Given the description of an element on the screen output the (x, y) to click on. 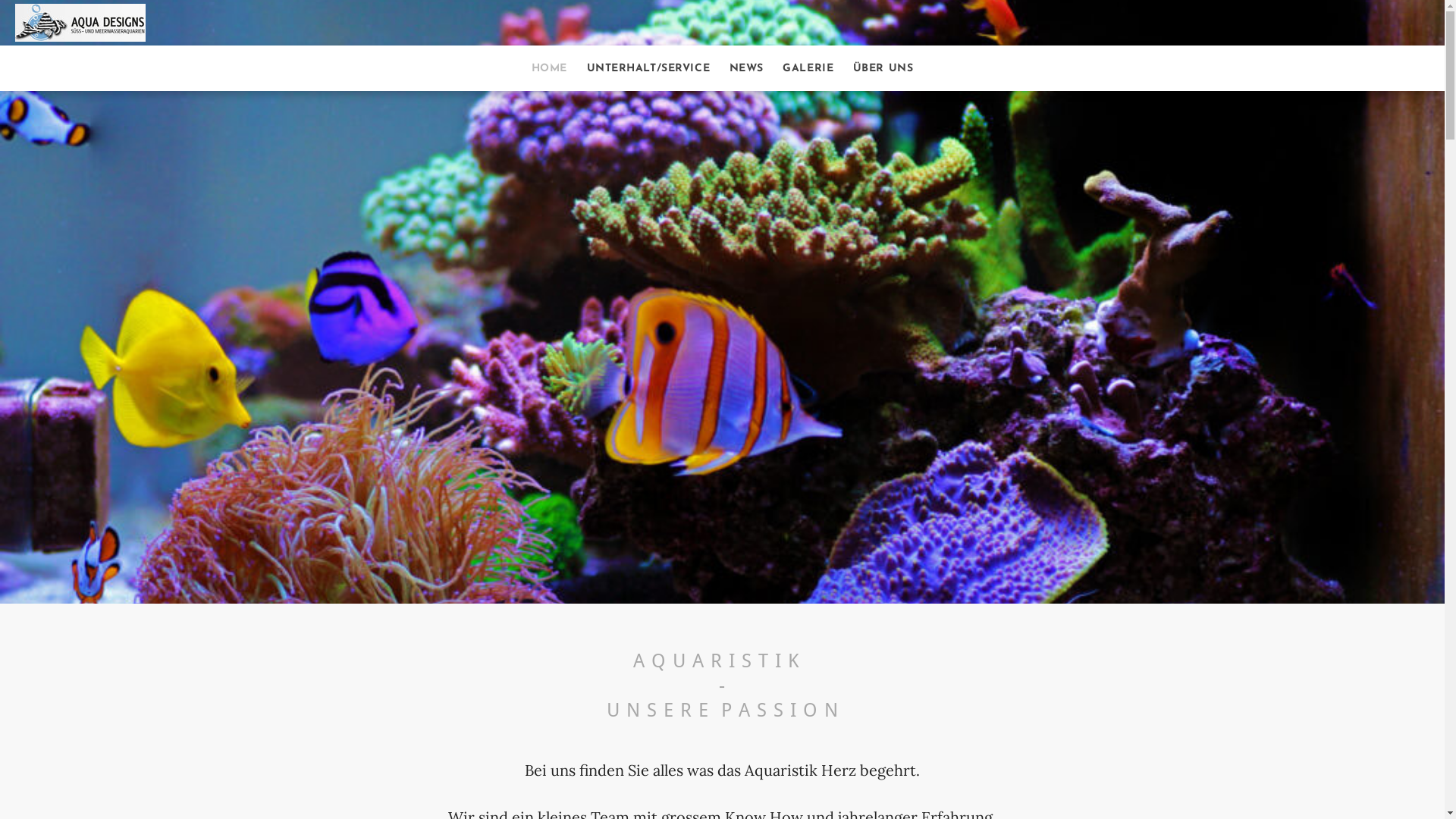
UNTERHALT/SERVICE Element type: text (648, 68)
HOME Element type: text (549, 68)
NEWS Element type: text (746, 68)
GALERIE Element type: text (807, 68)
